Given the description of an element on the screen output the (x, y) to click on. 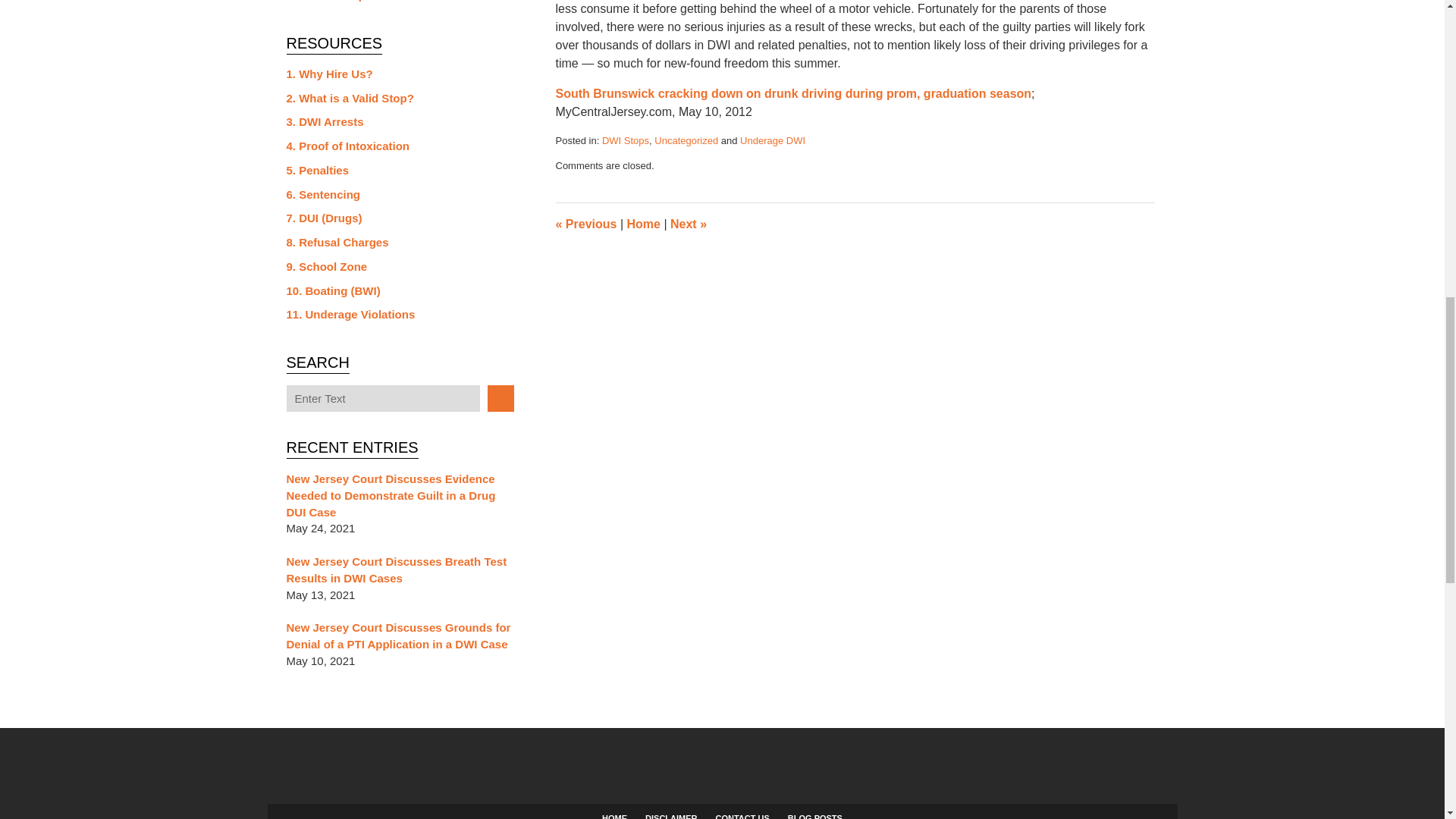
DWI Stops (625, 140)
View all posts in DWI Stops (625, 140)
View all posts in Uncategorized (685, 140)
Underage DWI (772, 140)
View all posts in Underage DWI (772, 140)
Home (642, 223)
Uncategorized (685, 140)
